Given the description of an element on the screen output the (x, y) to click on. 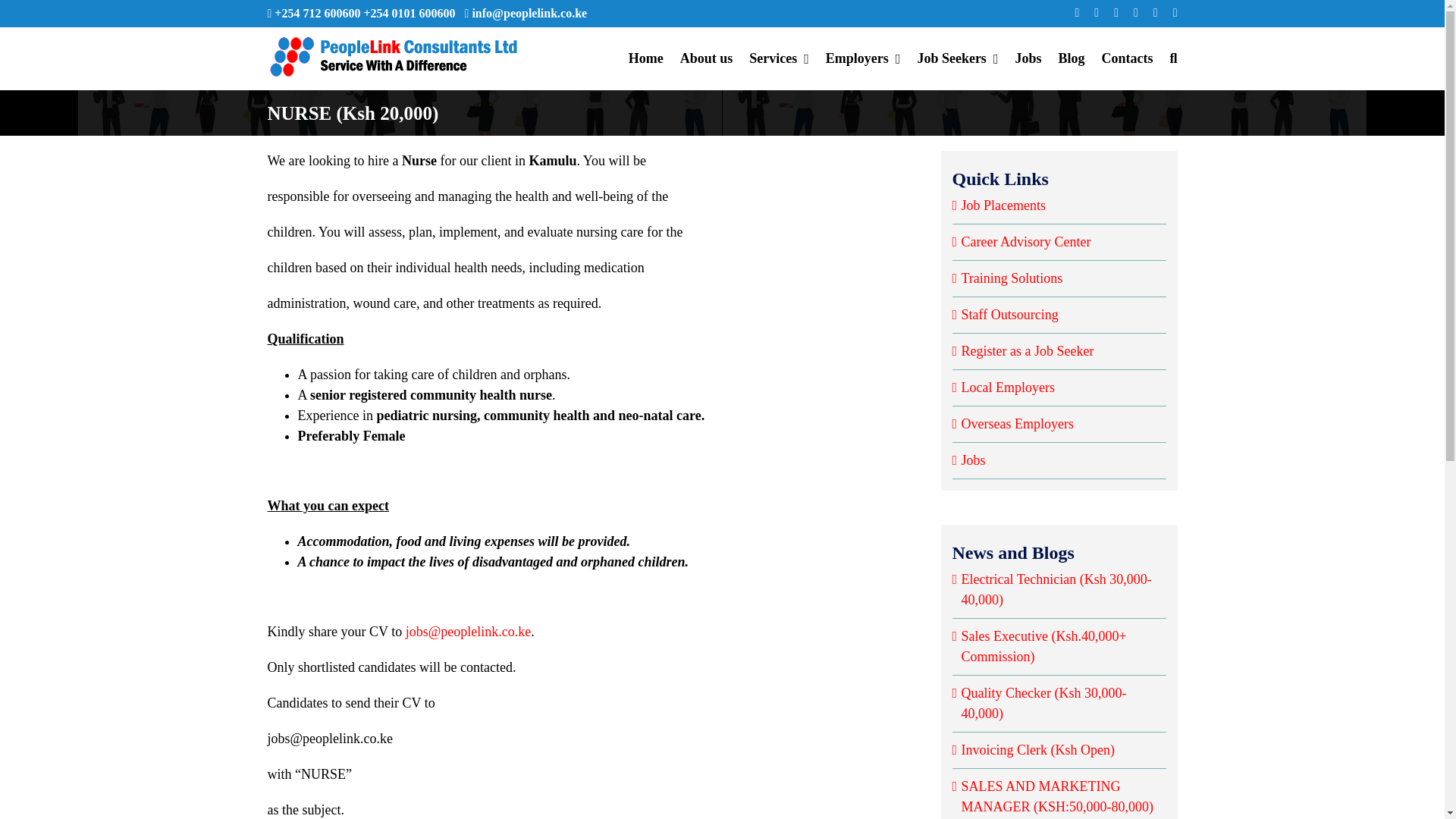
Career Advisory Center (1025, 241)
Services (779, 58)
Staff Outsourcing (1009, 314)
Employers (863, 58)
Training Solutions (1011, 278)
Job Seekers (957, 58)
Job Placements (1002, 205)
